Given the description of an element on the screen output the (x, y) to click on. 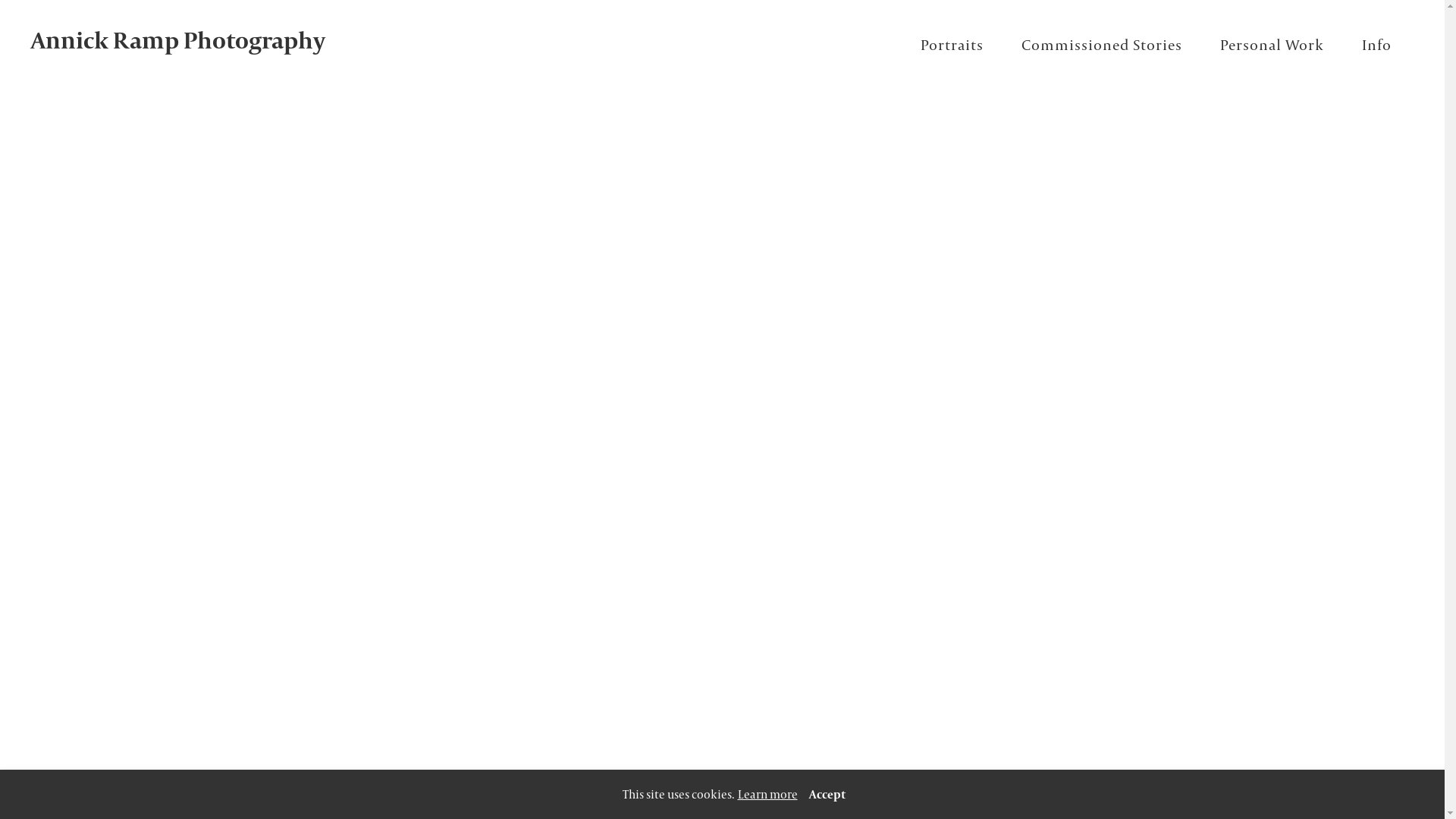
Info Element type: text (1376, 44)
Commissioned Stories Element type: text (1101, 44)
Personal Work Element type: text (1272, 44)
Portraits Element type: text (951, 44)
Learn more Element type: text (767, 793)
Annick Ramp Photography Element type: text (185, 39)
Accept Element type: text (826, 793)
allyou.net Element type: text (1420, 807)
